Given the description of an element on the screen output the (x, y) to click on. 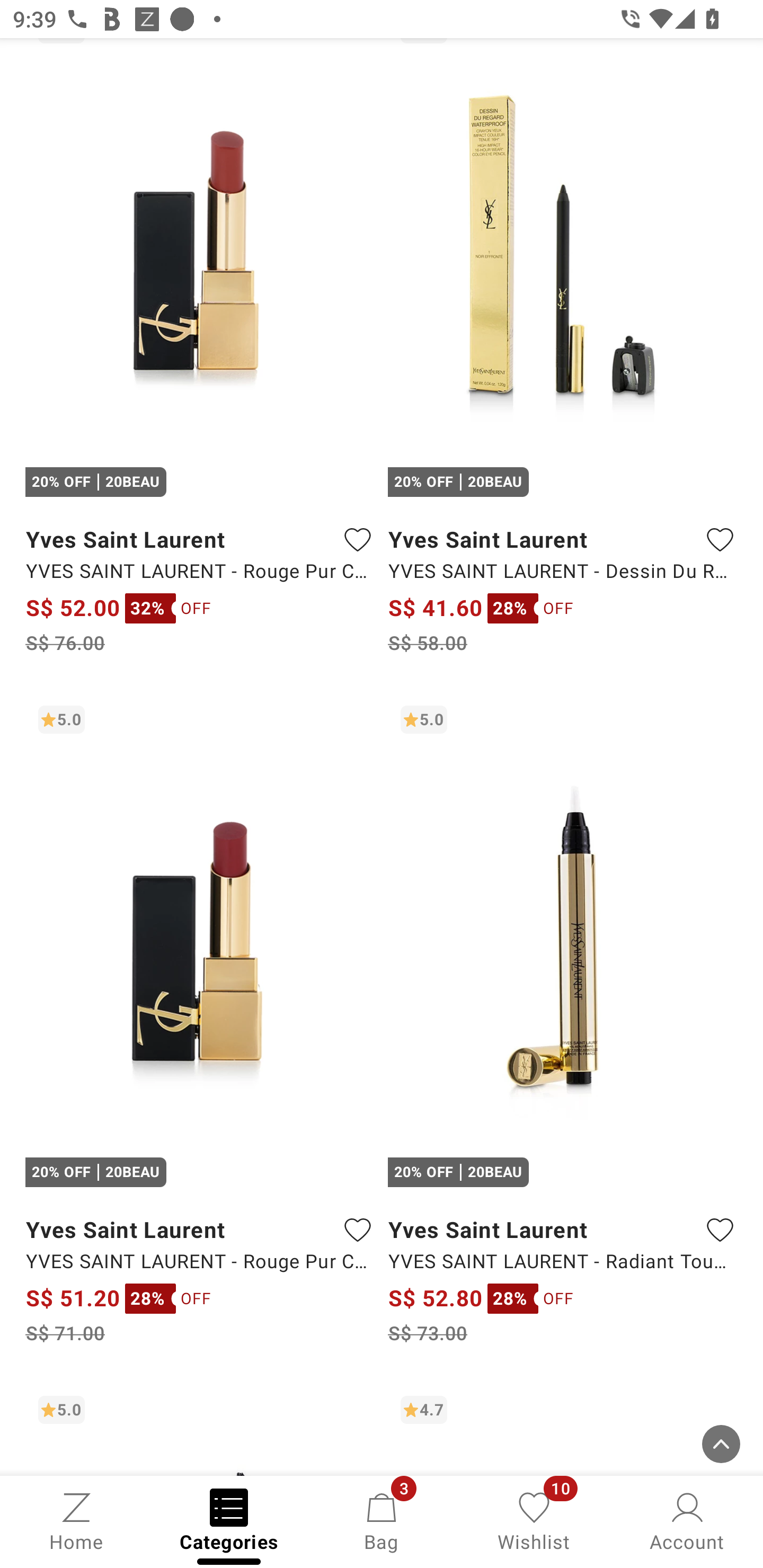
Home (76, 1519)
Bag, 3 new notifications Bag (381, 1519)
Wishlist, 10 new notifications Wishlist (533, 1519)
Account (686, 1519)
